Given the description of an element on the screen output the (x, y) to click on. 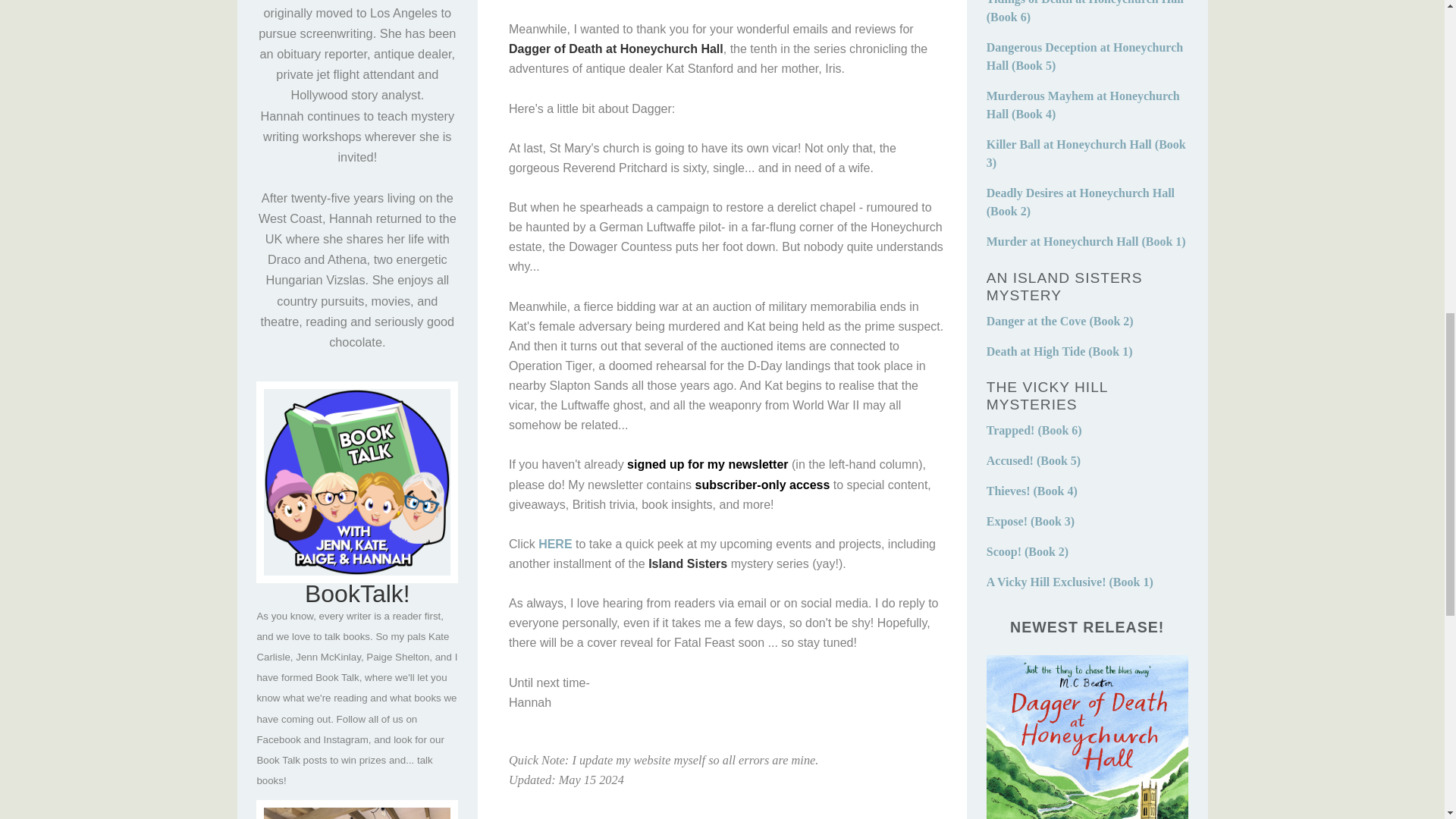
HERE (555, 543)
